Given the description of an element on the screen output the (x, y) to click on. 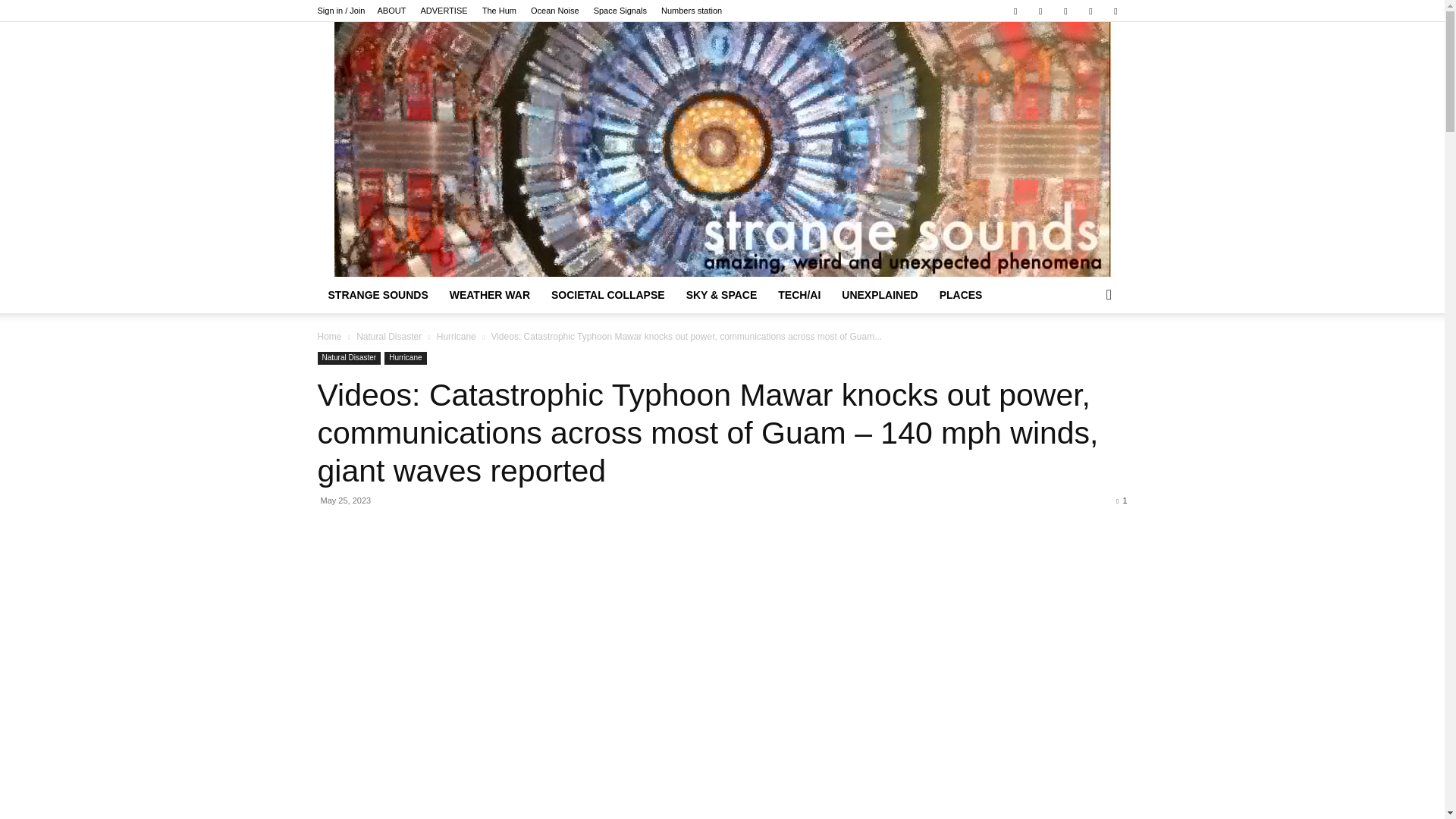
Numbers station (691, 10)
Space Signals (620, 10)
Facebook (1015, 10)
ADVERTISE ON STRANGE SOUNDS (443, 10)
Unexplained sounds of the deep ocean (555, 10)
ADVERTISE (443, 10)
Ocean Noise (555, 10)
Paypal (1040, 10)
